Given the description of an element on the screen output the (x, y) to click on. 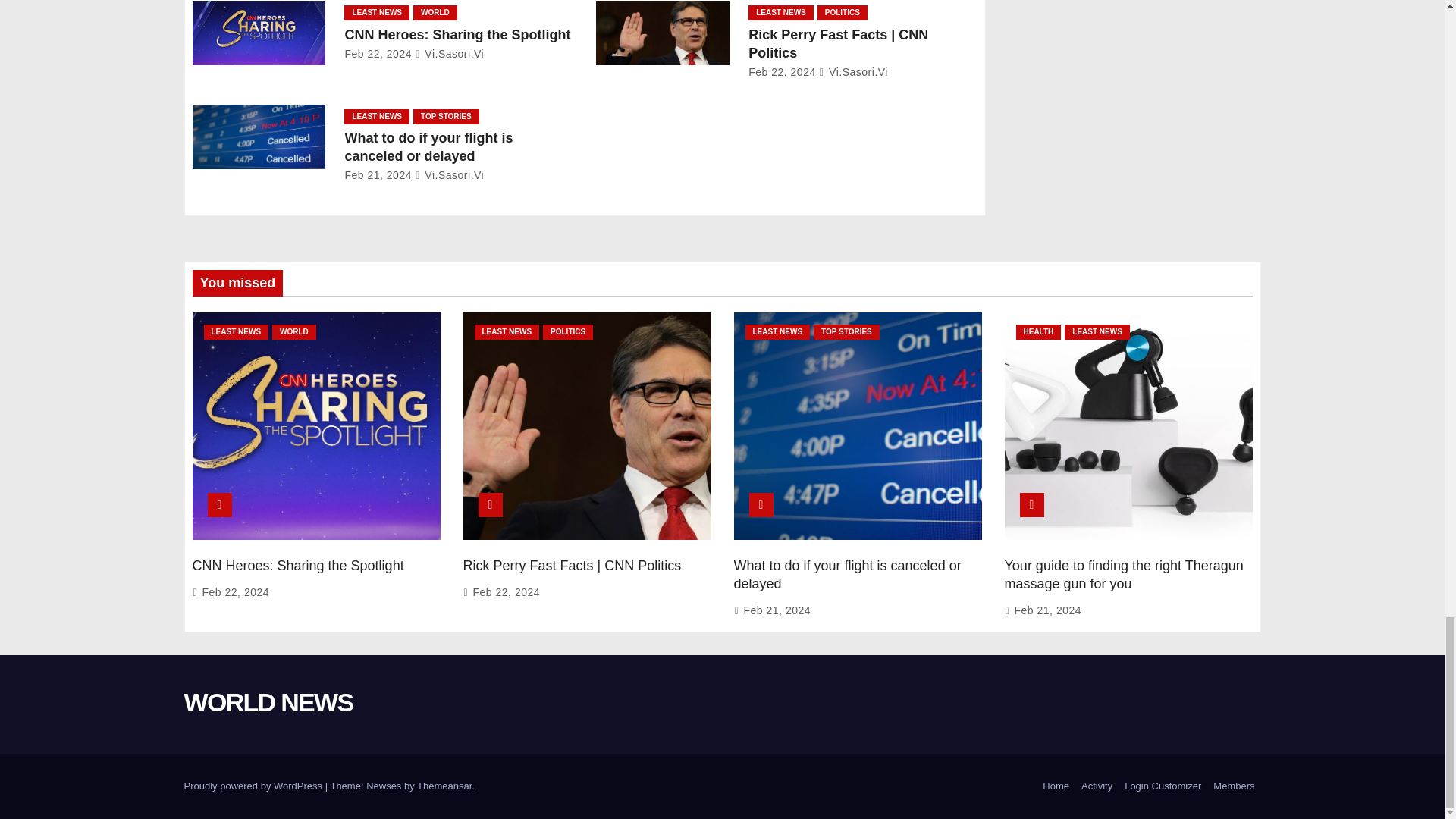
Permalink to: CNN Heroes: Sharing the Spotlight (298, 565)
Permalink to: CNN Heroes: Sharing the Spotlight (456, 34)
